Given the description of an element on the screen output the (x, y) to click on. 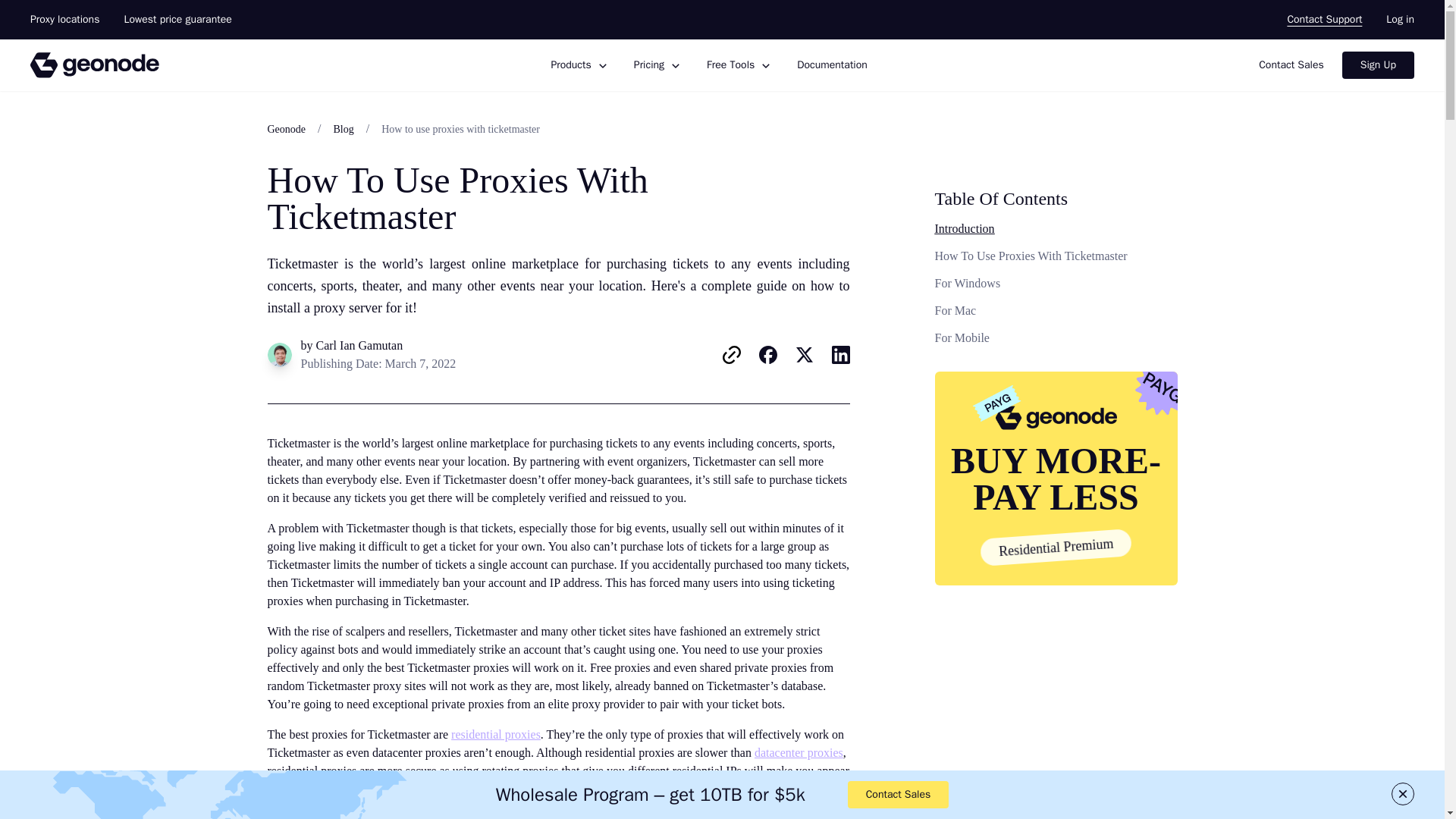
Free Tools (739, 65)
Documentation (831, 64)
Blog (343, 129)
Contact Sales (1291, 64)
For Mobile (961, 337)
For Mac (954, 309)
Sign Up (1377, 64)
Proxy locations (64, 19)
Introduction (964, 228)
Log in (1399, 19)
